Given the description of an element on the screen output the (x, y) to click on. 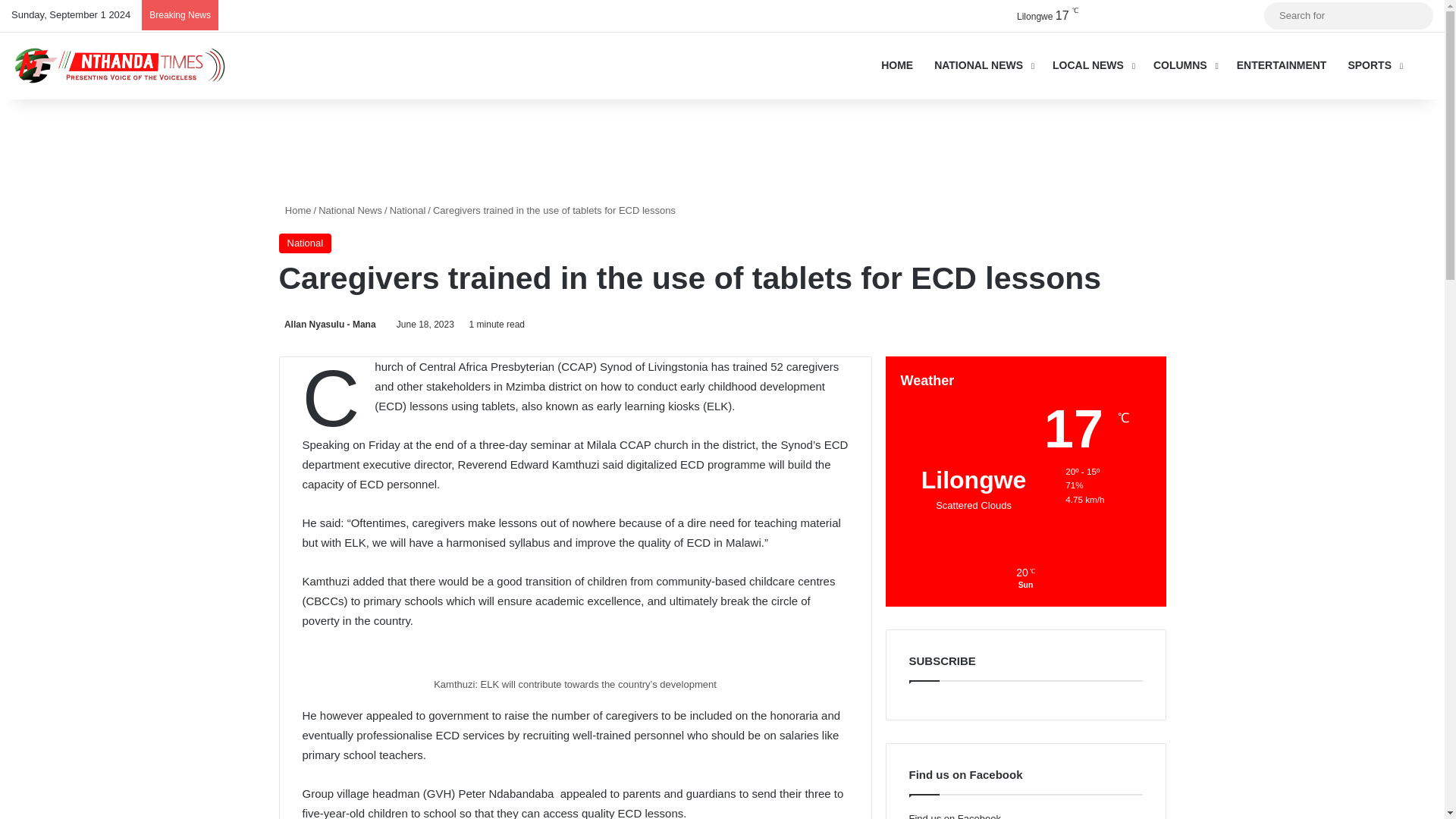
SPORTS (1373, 65)
LOCAL NEWS (1092, 65)
Scattered Clouds (1034, 15)
NATIONAL NEWS (982, 65)
COLUMNS (1183, 65)
Allan Nyasulu - Mana (327, 324)
Nthanda Times (124, 65)
Search for (1417, 15)
ENTERTAINMENT (1281, 65)
Search for (1347, 15)
